Given the description of an element on the screen output the (x, y) to click on. 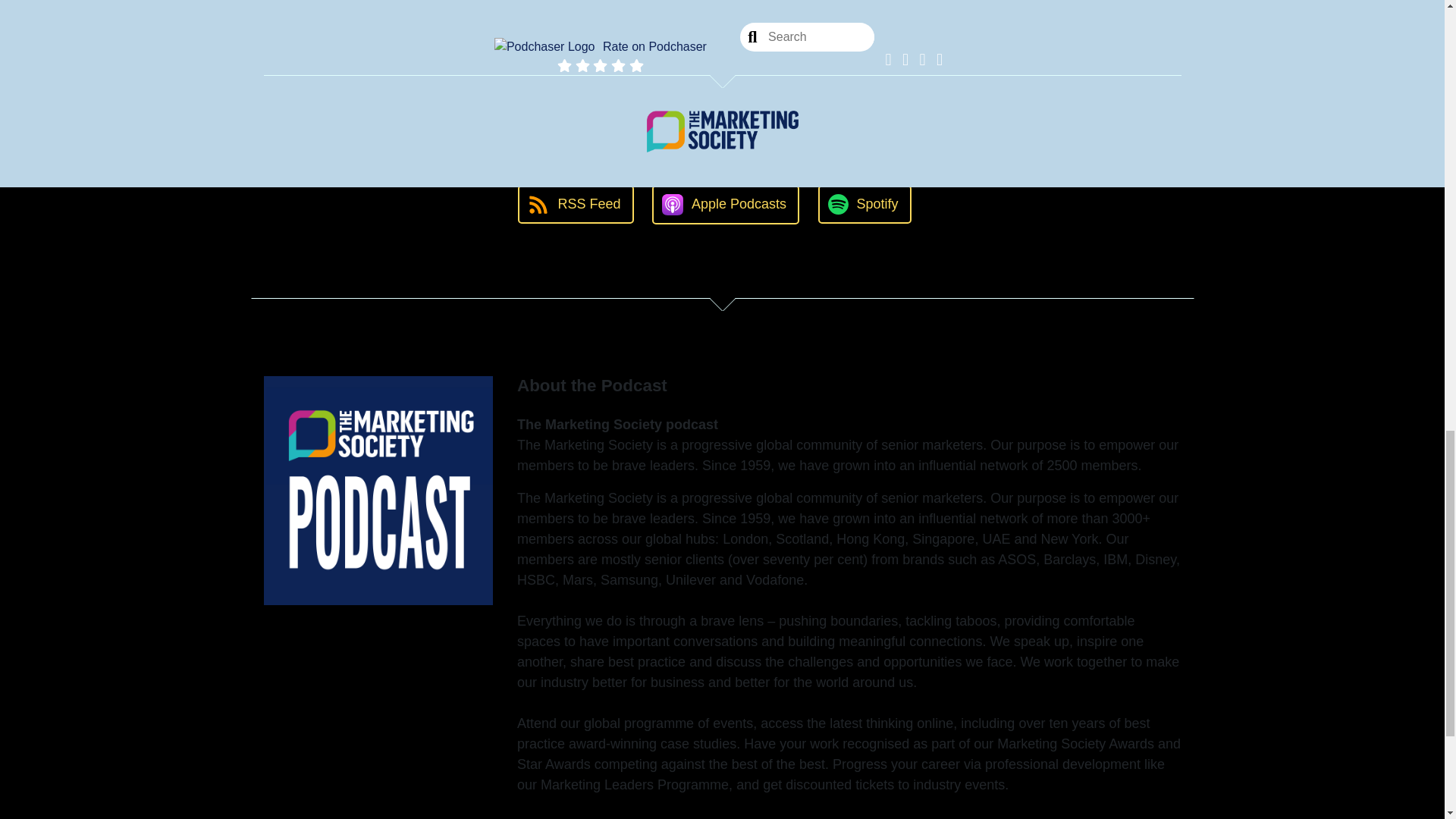
RSS Feed (575, 204)
Apple Podcasts (725, 204)
Spotify (863, 204)
